Given the description of an element on the screen output the (x, y) to click on. 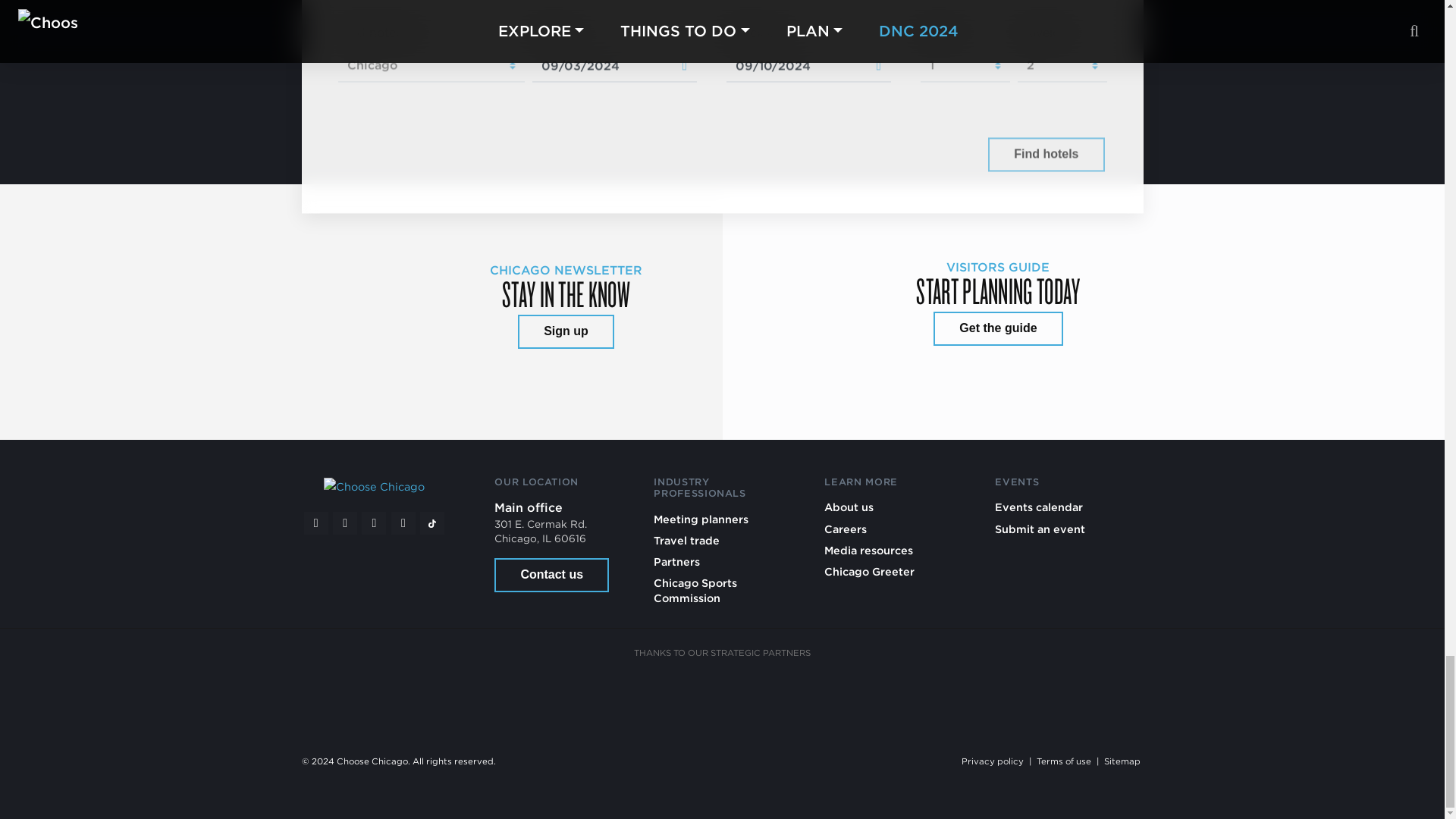
Enjoy Illinois (779, 696)
American Airlines (433, 696)
Brand USA (549, 696)
Powered by Expedia (917, 154)
Chicago Department of Aviation (894, 696)
United Airlines (1009, 696)
